Given the description of an element on the screen output the (x, y) to click on. 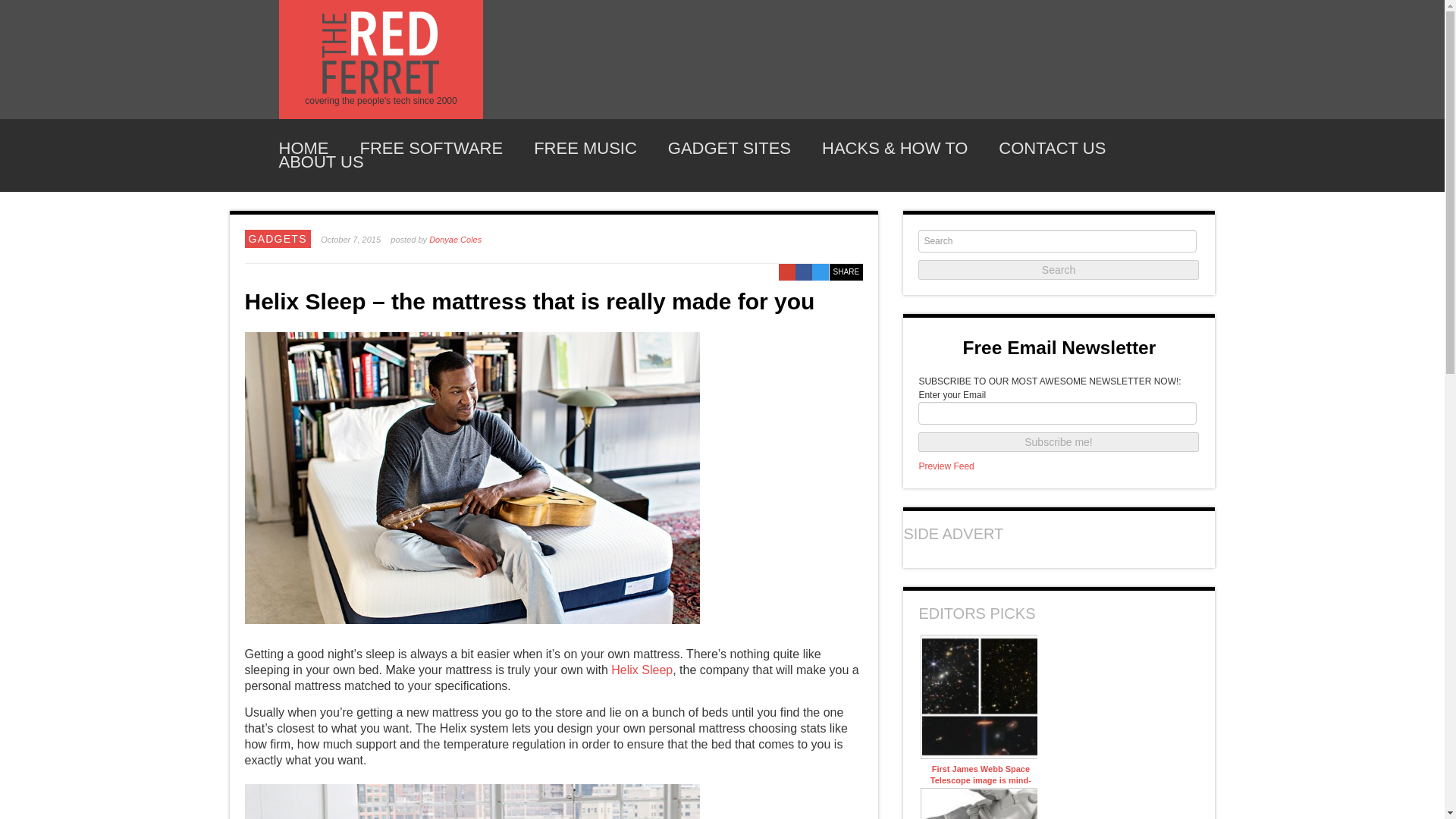
Posts by Donyae Coles (455, 239)
View all posts in Gadgets (277, 238)
Subscribe me! (1058, 442)
GADGET SITES (729, 148)
Preview Feed (946, 466)
HOME (304, 148)
Donyae Coles (455, 239)
SHARE (846, 271)
ABOUT US (321, 161)
FREE MUSIC (585, 148)
Search (1058, 270)
FREE SOFTWARE (430, 148)
GADGETS (277, 238)
Subscribe me! (1058, 442)
Search (1058, 270)
